Given the description of an element on the screen output the (x, y) to click on. 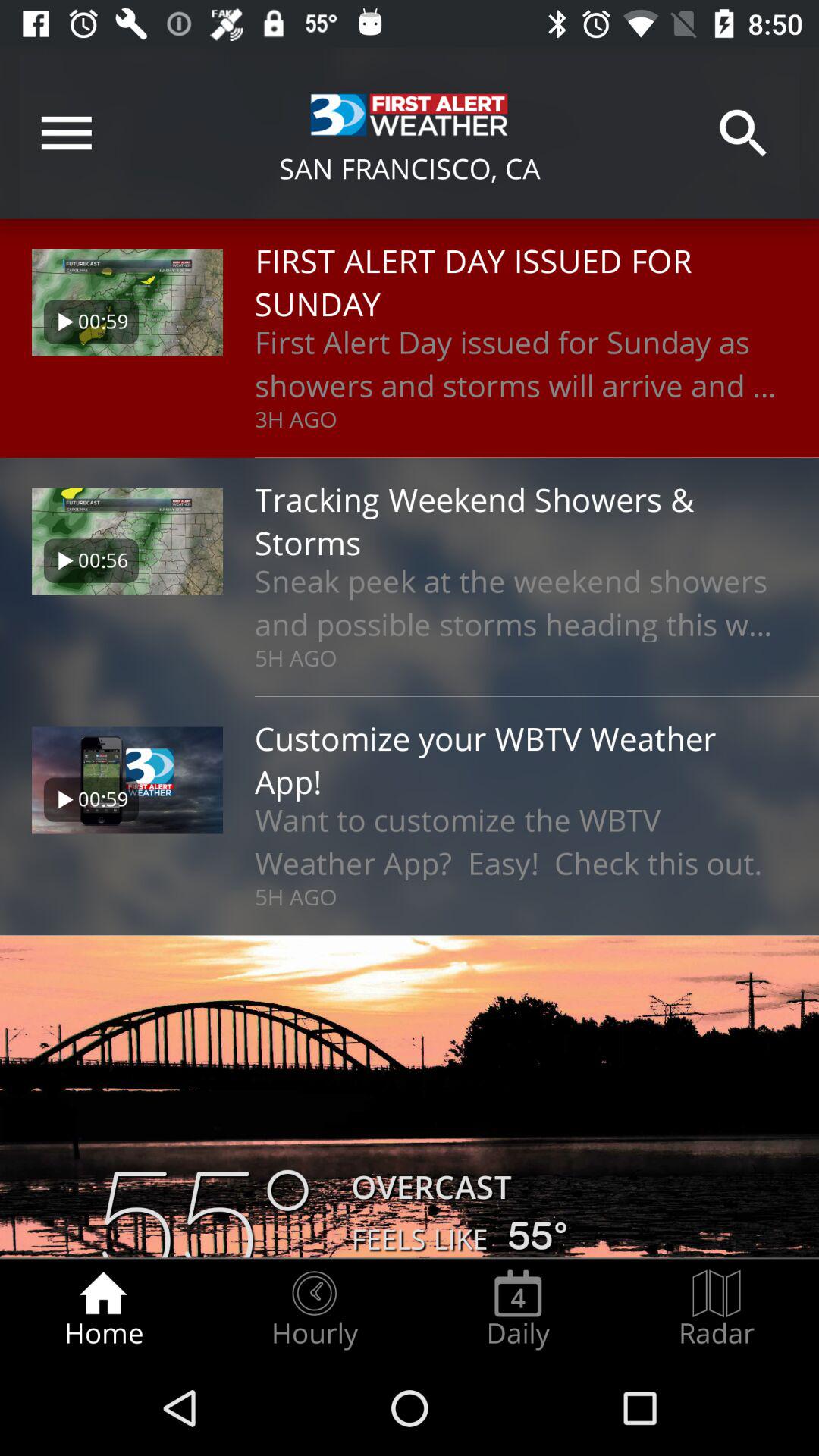
choose icon to the left of the radar (518, 1309)
